Given the description of an element on the screen output the (x, y) to click on. 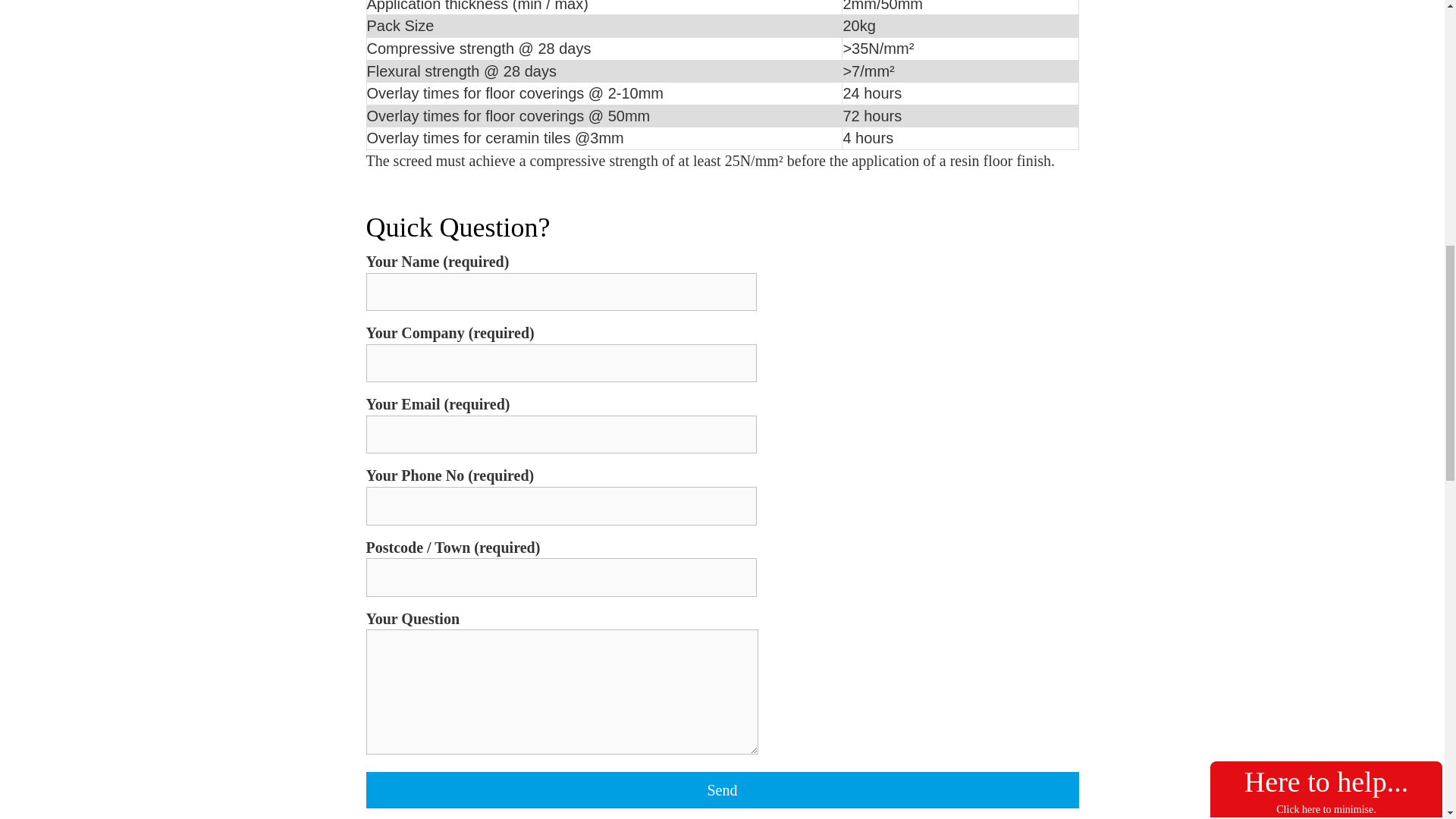
Send (721, 790)
